Given the description of an element on the screen output the (x, y) to click on. 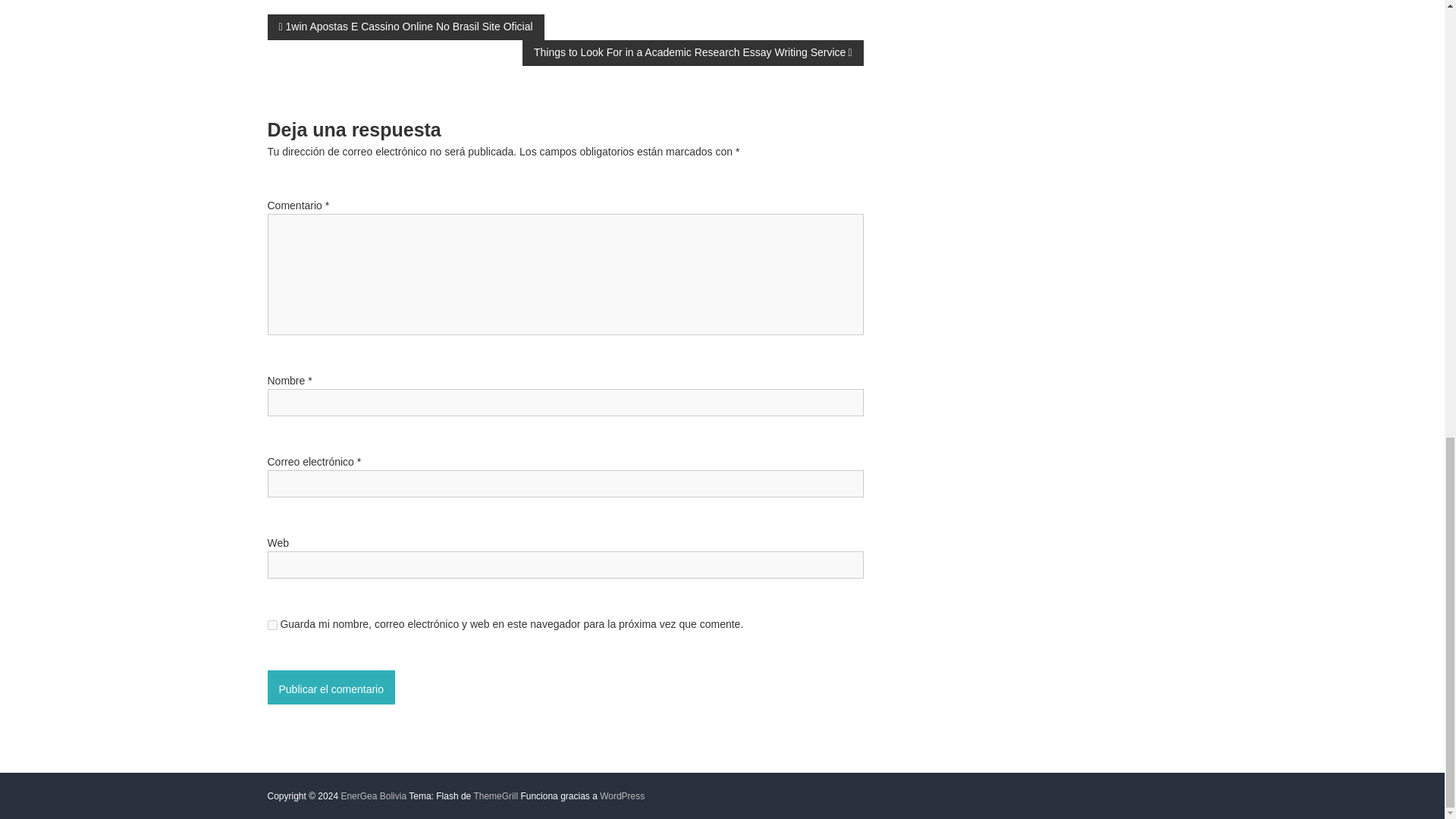
Publicar el comentario (330, 687)
1win Apostas E Cassino Online No Brasil Site Oficial (404, 26)
yes (271, 624)
Publicar el comentario (330, 687)
